Given the description of an element on the screen output the (x, y) to click on. 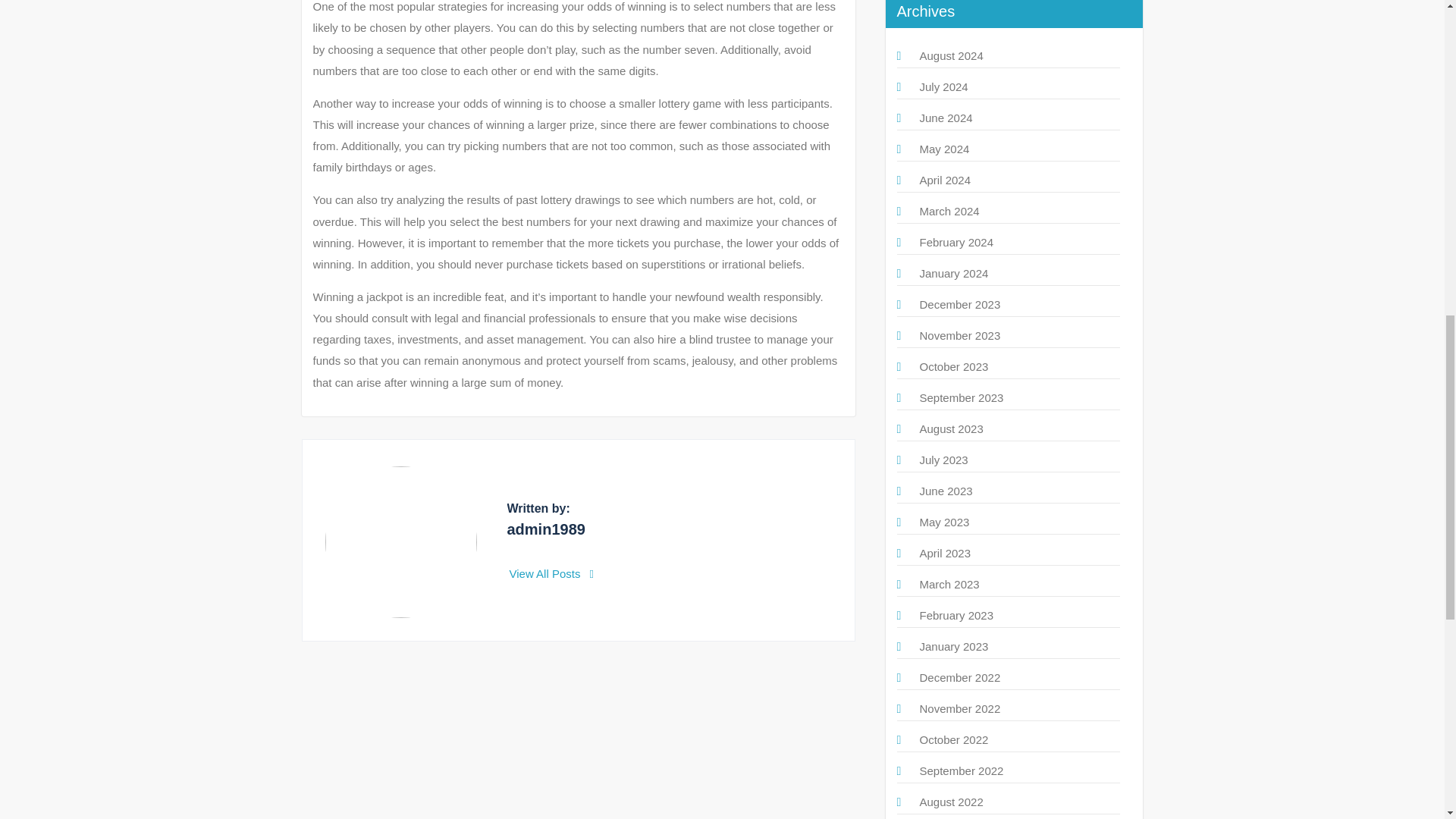
November 2022 (959, 707)
October 2023 (953, 366)
January 2024 (953, 273)
June 2024 (945, 117)
April 2023 (944, 553)
March 2024 (948, 210)
December 2023 (959, 304)
December 2022 (959, 676)
November 2023 (959, 335)
March 2023 (948, 584)
May 2024 (943, 148)
August 2024 (950, 55)
September 2023 (960, 397)
February 2024 (955, 241)
July 2024 (943, 86)
